Given the description of an element on the screen output the (x, y) to click on. 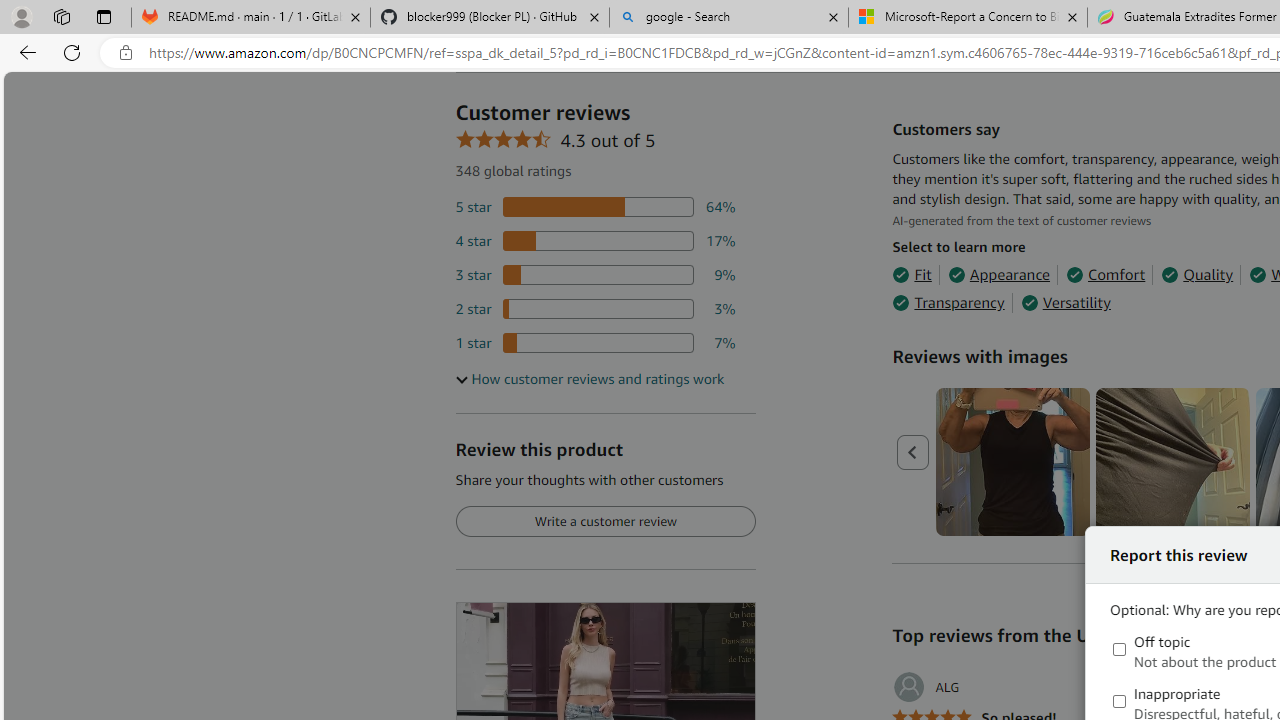
Customer Image (1172, 462)
